Given the description of an element on the screen output the (x, y) to click on. 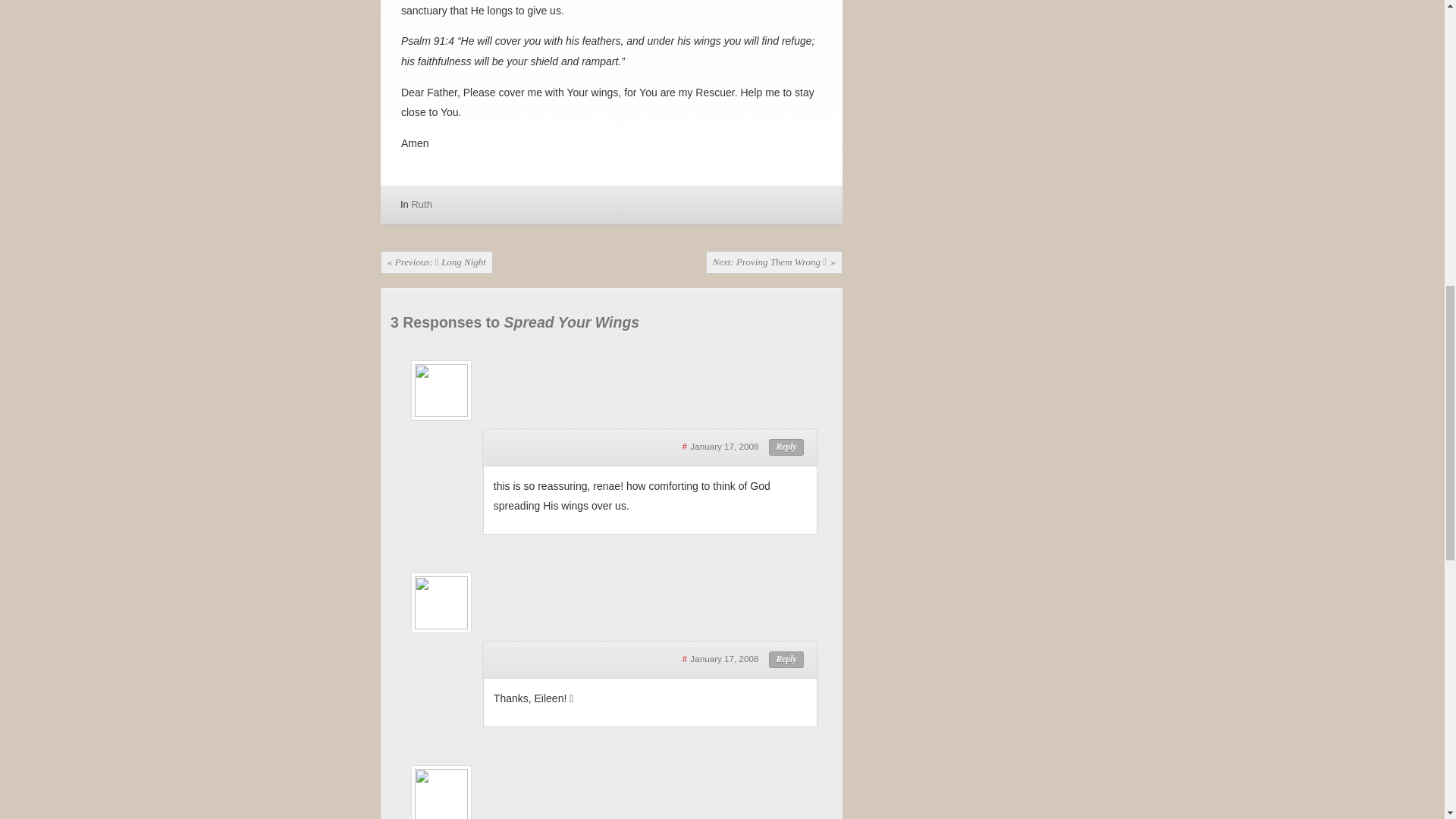
Long Night (436, 261)
Proving Them Wrong (774, 261)
Ruth (420, 204)
Reply (786, 659)
Reply (786, 446)
